Given the description of an element on the screen output the (x, y) to click on. 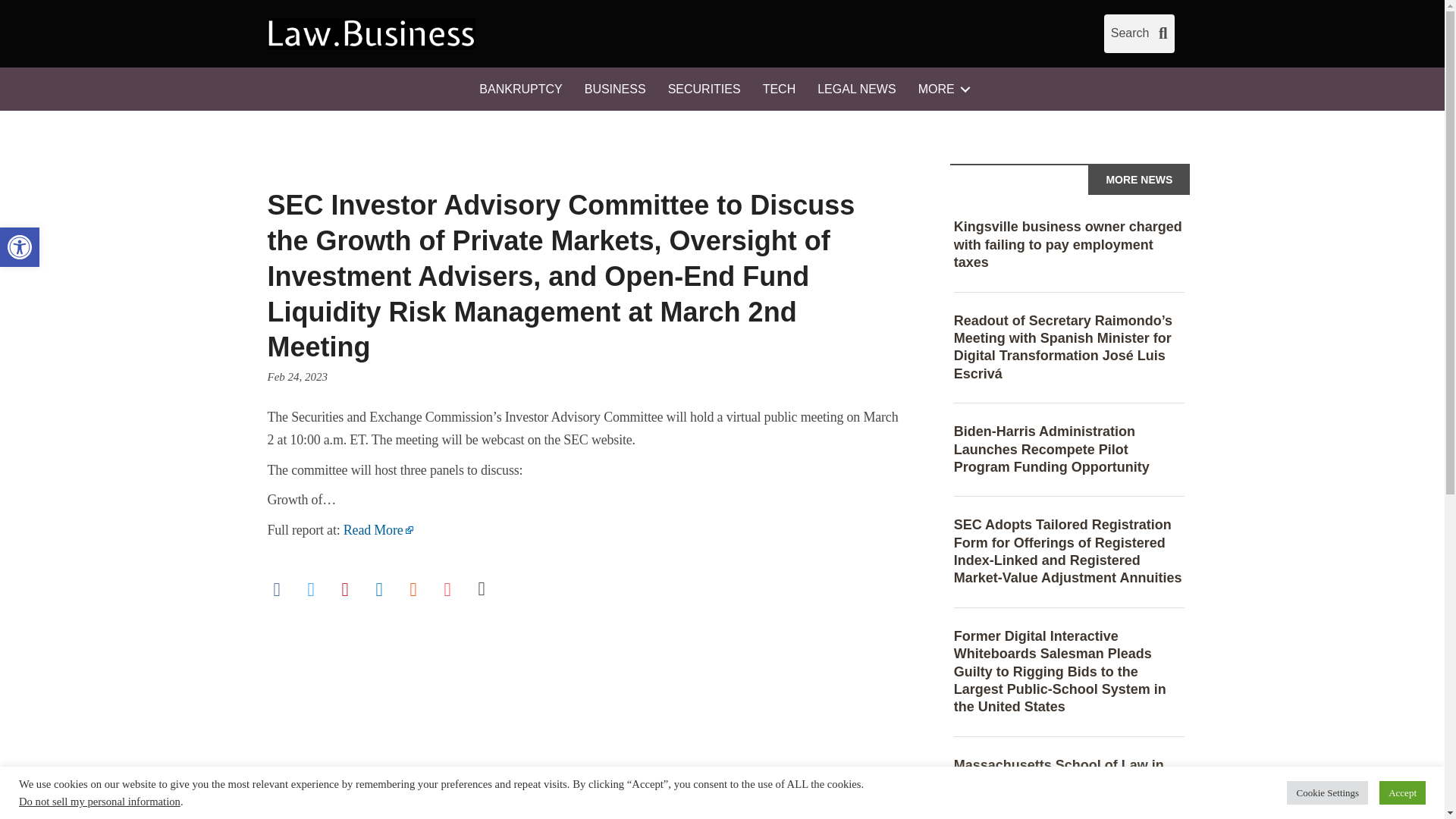
SECURITIES (704, 89)
Accessibility Tools (19, 246)
Law.Business (370, 33)
MORE (941, 89)
Accessibility Tools (19, 247)
BUSINESS (614, 89)
BANKRUPTCY (19, 246)
Click Here (520, 89)
TECH (1138, 33)
LEGAL NEWS (779, 89)
